Given the description of an element on the screen output the (x, y) to click on. 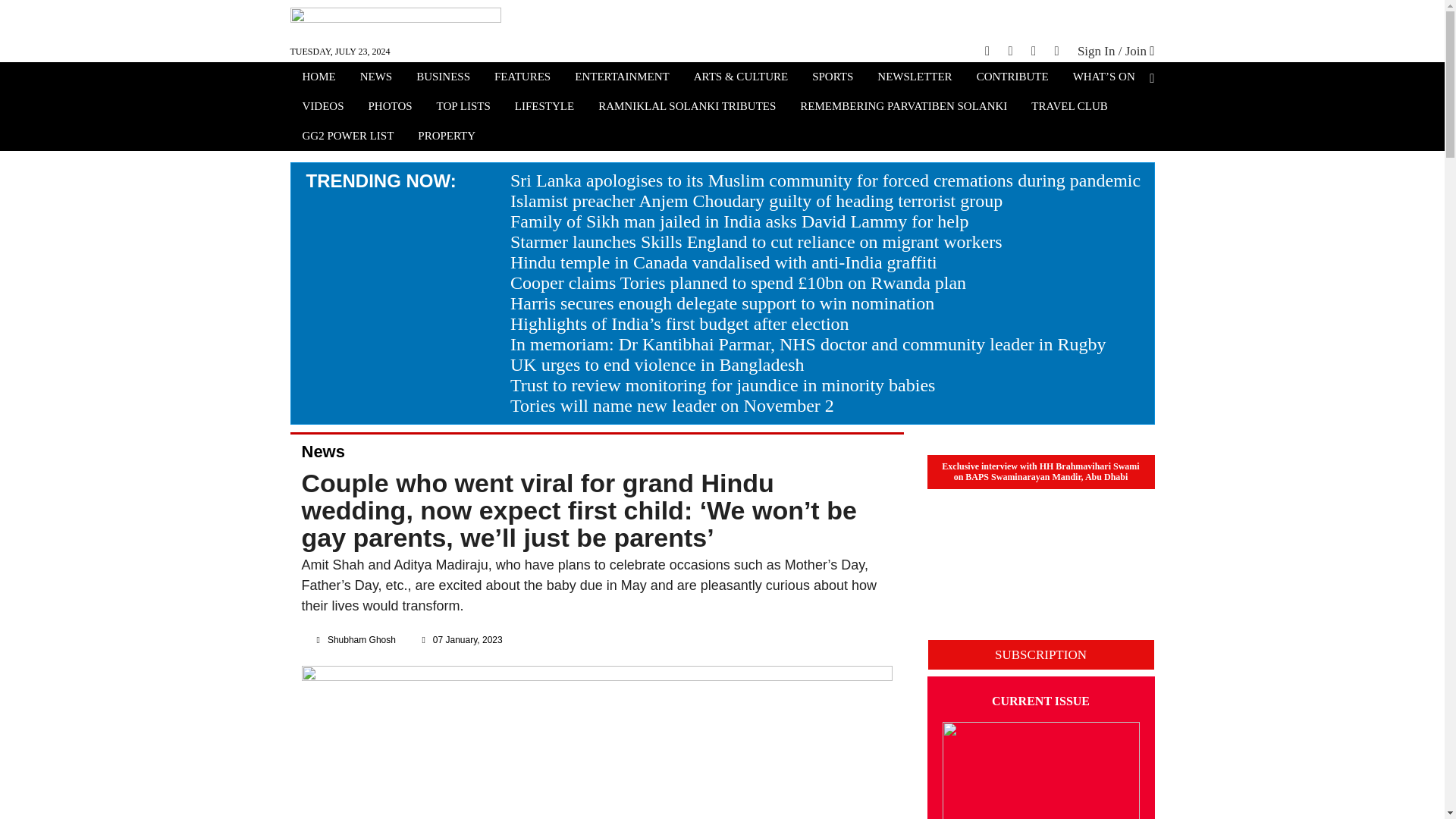
Harris secures enough delegate support to win nomination (722, 302)
NEWS (375, 78)
Hindu temple in Canada vandalised with anti-India graffiti (724, 261)
ENTERTAINMENT (622, 78)
GG2 POWER LIST (346, 137)
LIFESTYLE (543, 108)
REMEMBERING PARVATIBEN SOLANKI (903, 108)
PROPERTY (446, 137)
FEATURES (521, 78)
VIDEOS (322, 108)
Family of Sikh man jailed in India asks David Lammy for help (740, 220)
HOME (317, 78)
BUSINESS (443, 78)
